Given the description of an element on the screen output the (x, y) to click on. 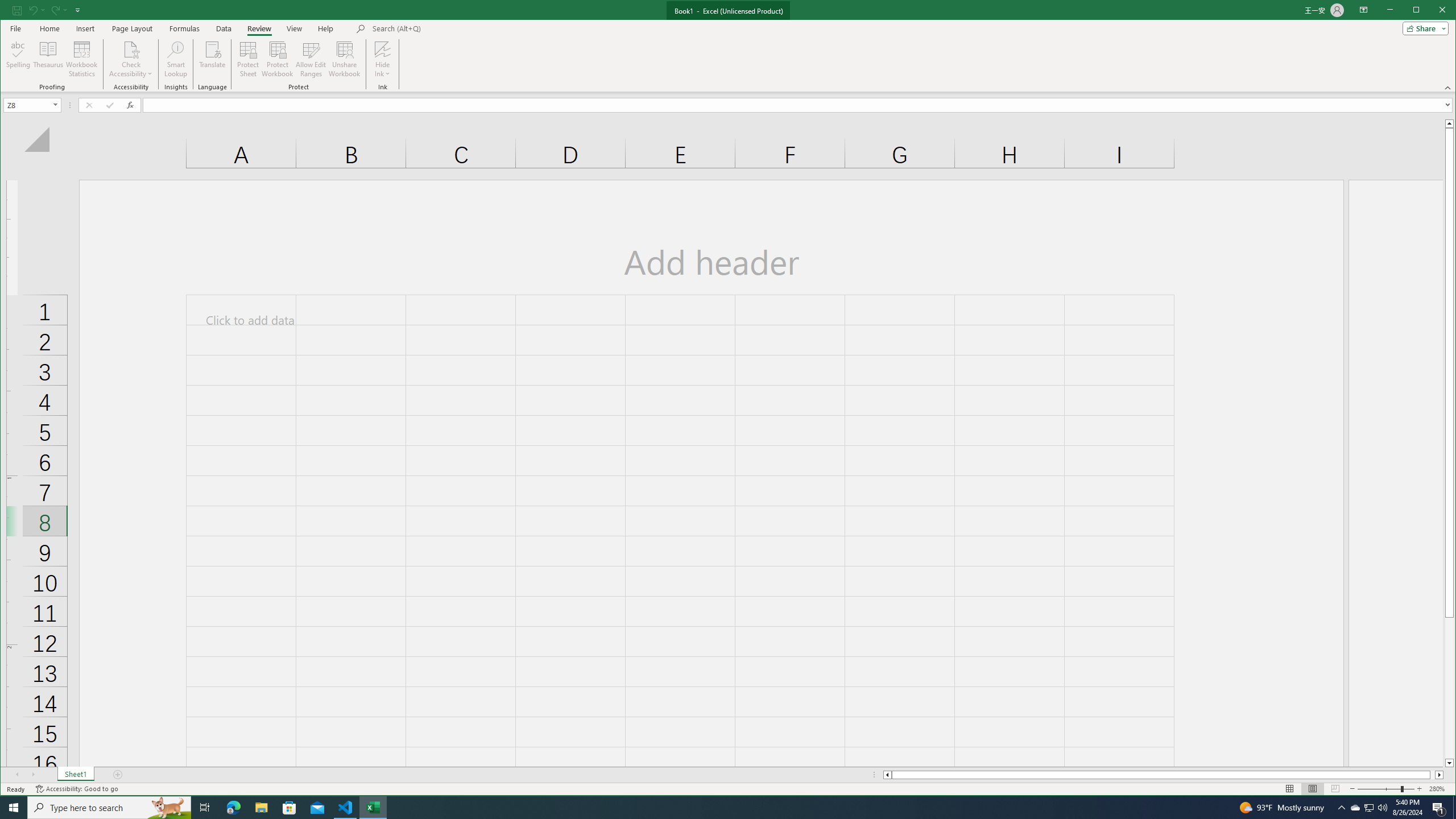
Spelling... (18, 59)
Running applications (717, 807)
Protect Sheet... (247, 59)
Excel - 1 running window (373, 807)
